Given the description of an element on the screen output the (x, y) to click on. 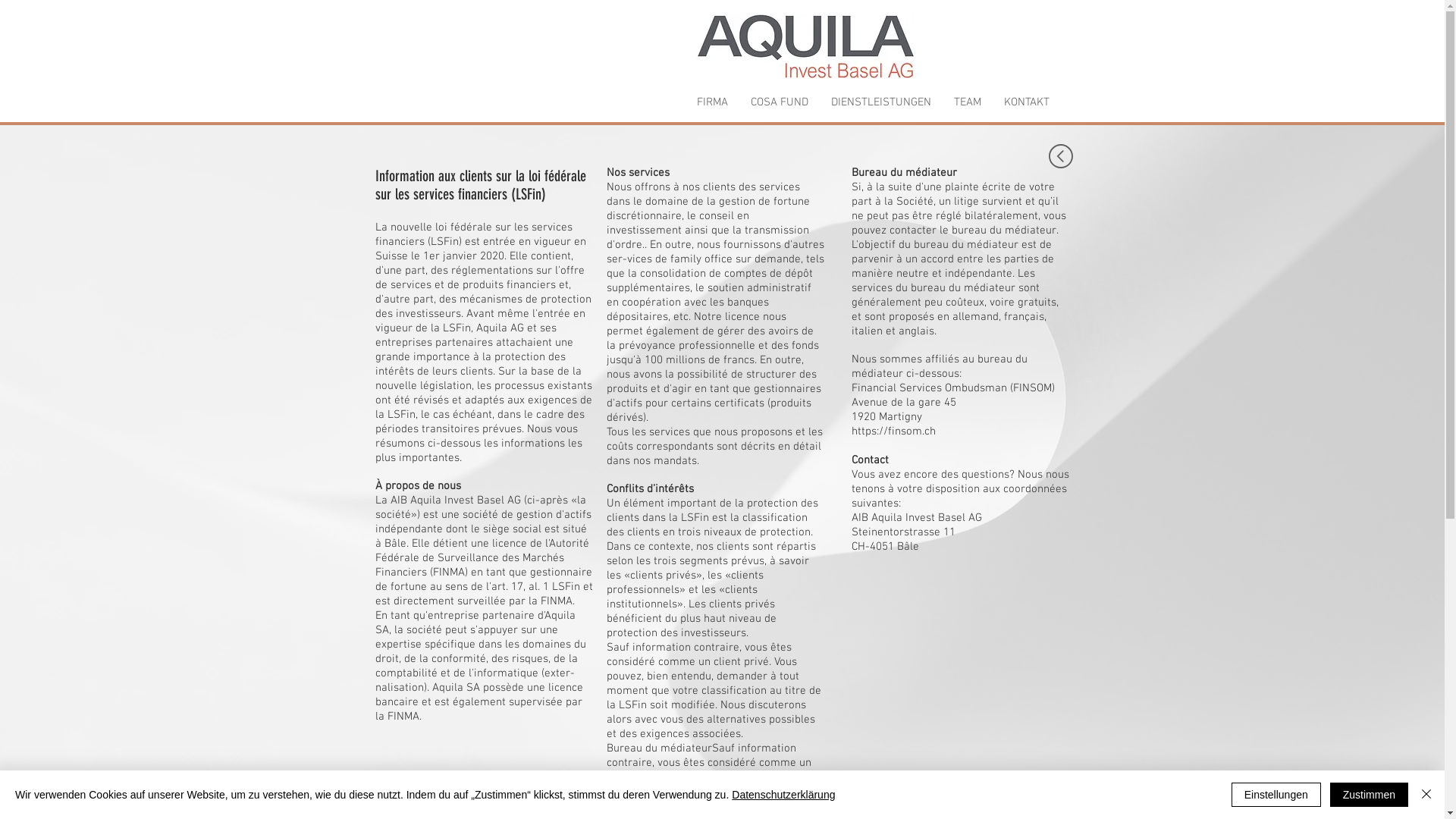
Zustimmen Element type: text (1369, 794)
FIRMA Element type: text (712, 101)
KONTAKT Element type: text (1025, 101)
Einstellungen Element type: text (1276, 794)
COSA FUND Element type: text (778, 101)
TEAM Element type: text (966, 101)
DIENSTLEISTUNGEN Element type: text (880, 101)
